Given the description of an element on the screen output the (x, y) to click on. 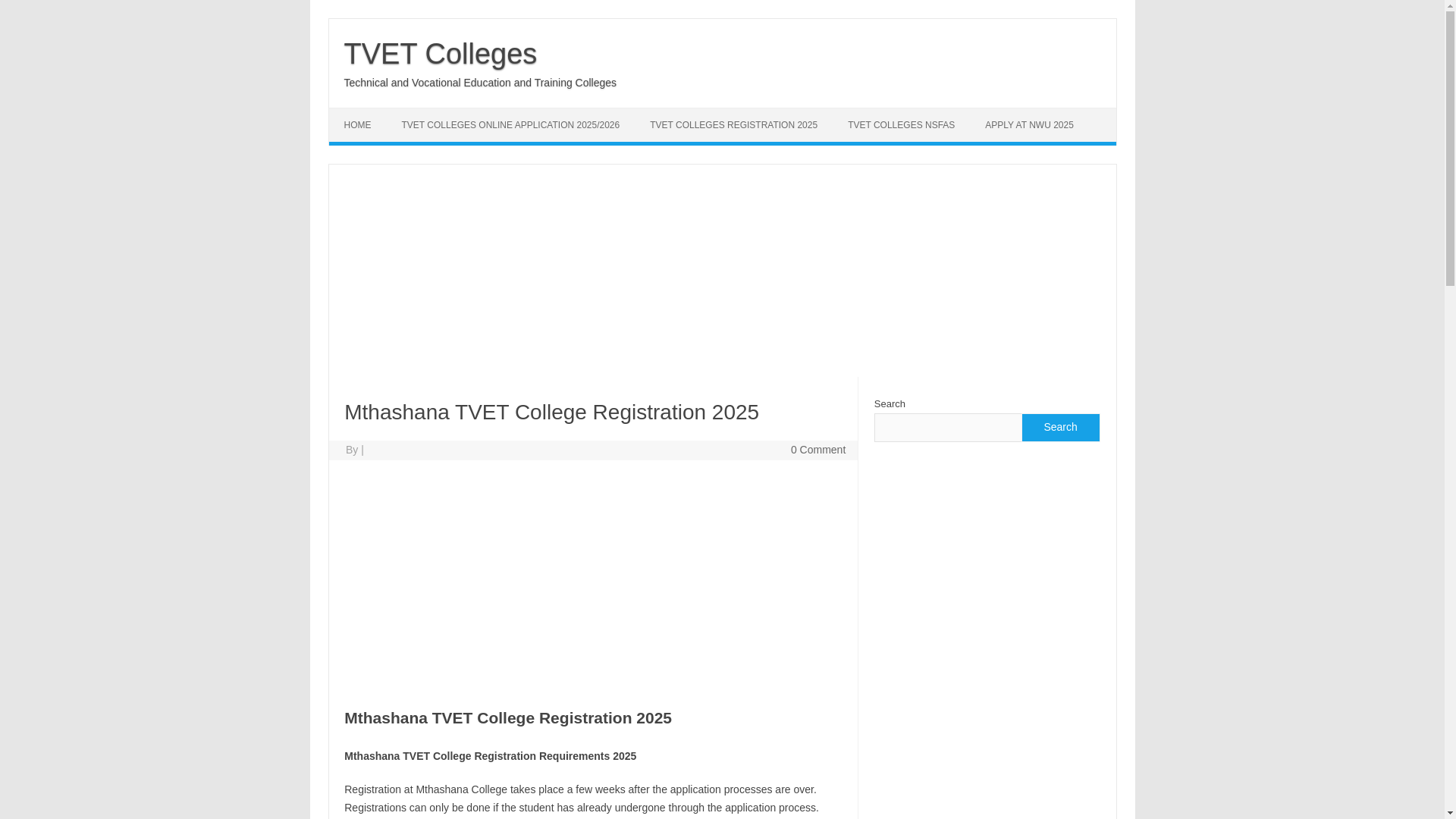
TVET Colleges (440, 53)
APPLY AT NWU 2025 (1029, 124)
TVET COLLEGES NSFAS (900, 124)
0 Comment (817, 449)
TVET COLLEGES REGISTRATION 2025 (733, 124)
Search (1059, 427)
Advertisement (592, 581)
TVET Colleges (440, 53)
HOME (358, 124)
Technical and Vocational Education and Training Colleges (480, 82)
